Given the description of an element on the screen output the (x, y) to click on. 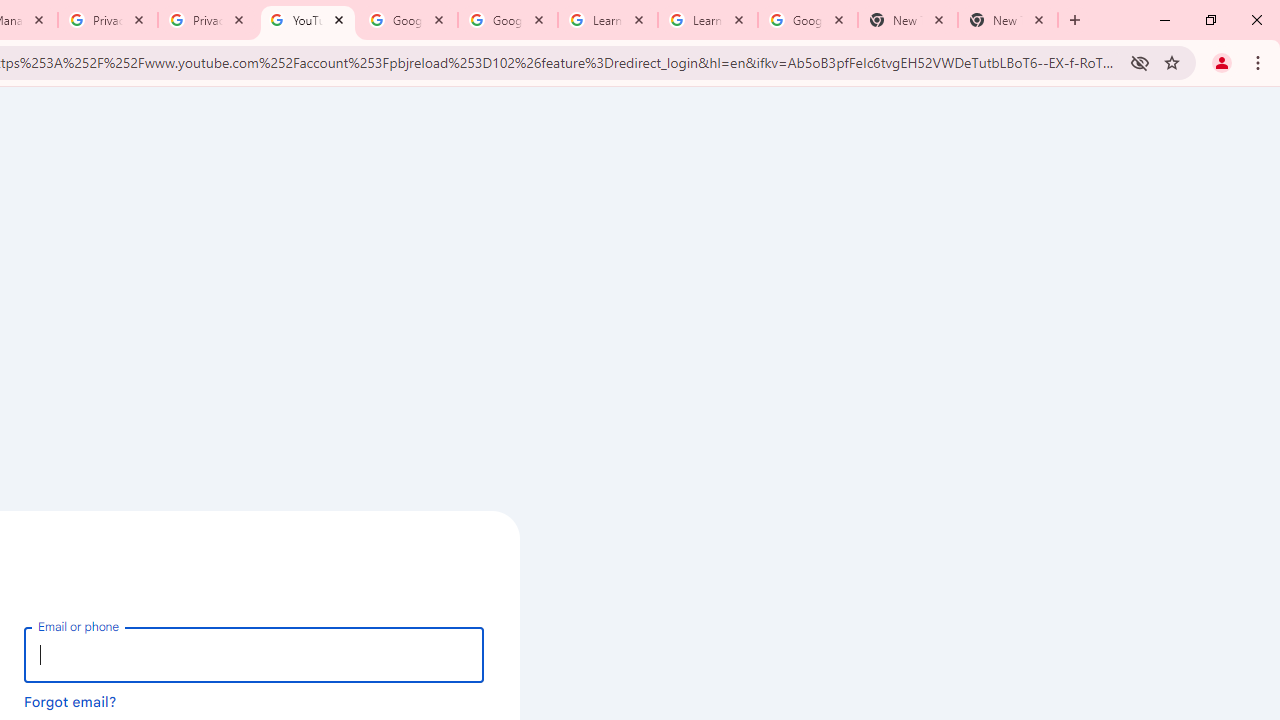
New Tab (907, 20)
YouTube (308, 20)
